Given the description of an element on the screen output the (x, y) to click on. 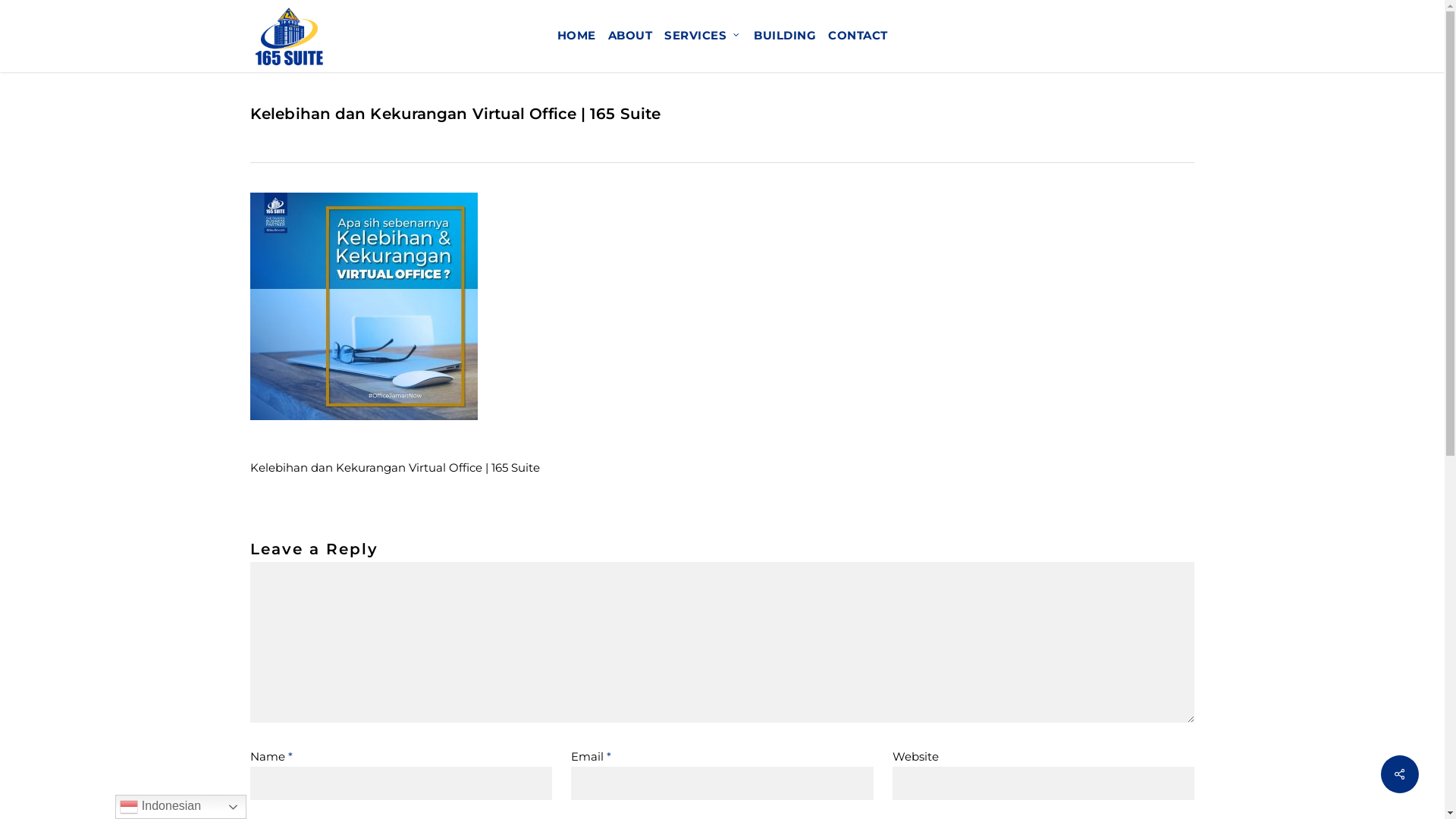
SERVICES Element type: text (702, 35)
ABOUT Element type: text (630, 35)
CONTACT Element type: text (858, 35)
BUILDING Element type: text (784, 35)
HOME Element type: text (575, 35)
